Given the description of an element on the screen output the (x, y) to click on. 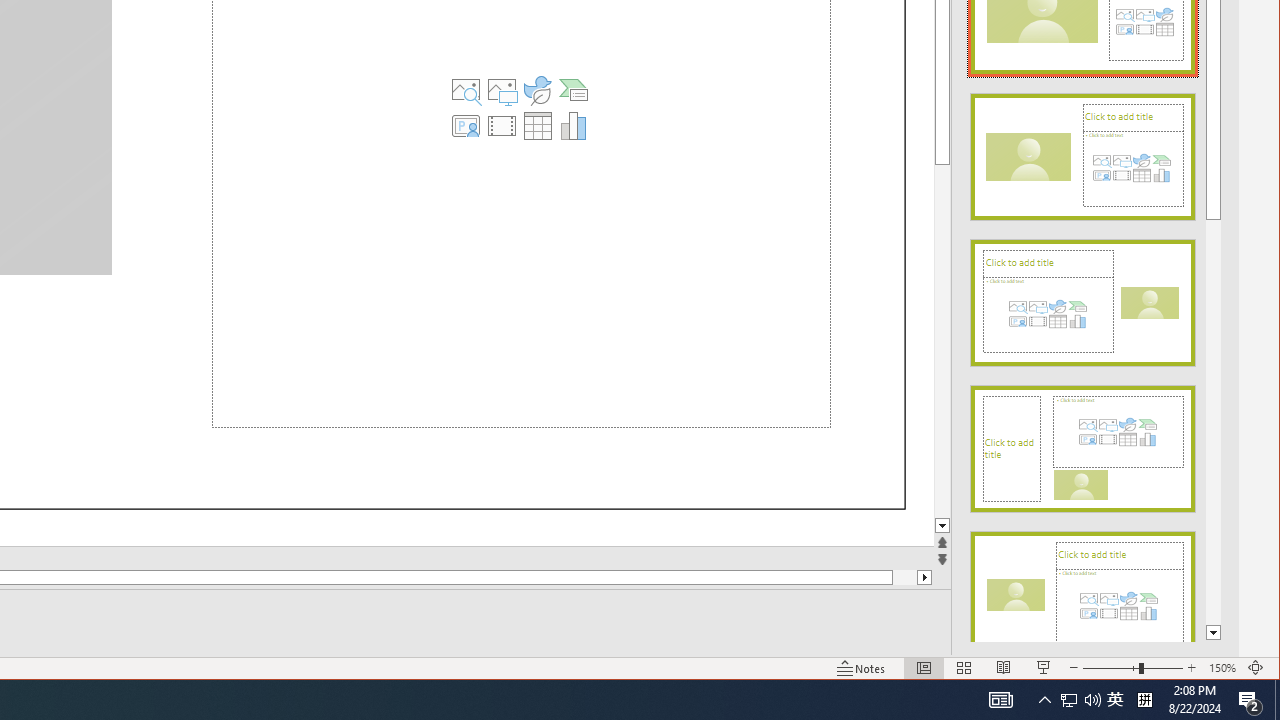
Insert Chart (574, 125)
Zoom 150% (1222, 668)
Insert a SmartArt Graphic (574, 89)
Insert Video (502, 125)
